Given the description of an element on the screen output the (x, y) to click on. 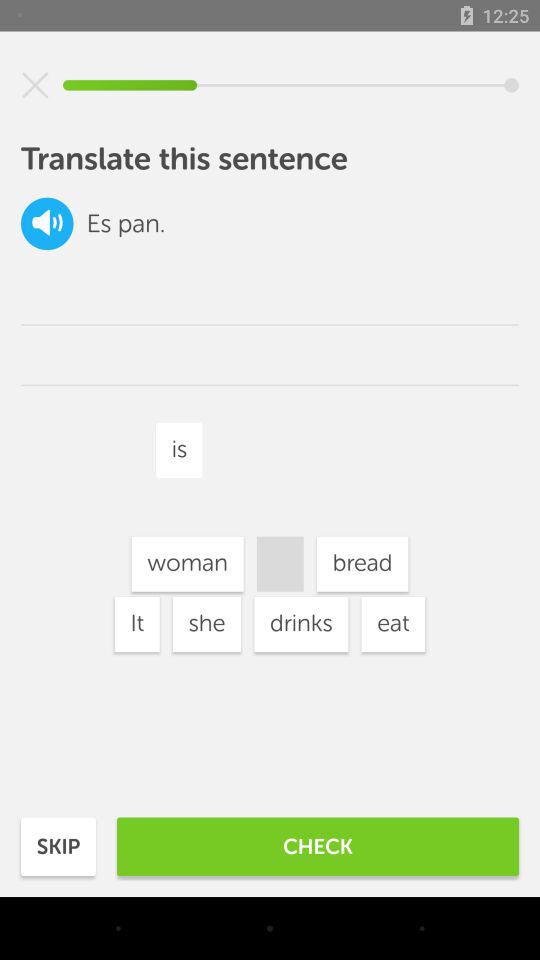
flip to the skip icon (58, 846)
